Given the description of an element on the screen output the (x, y) to click on. 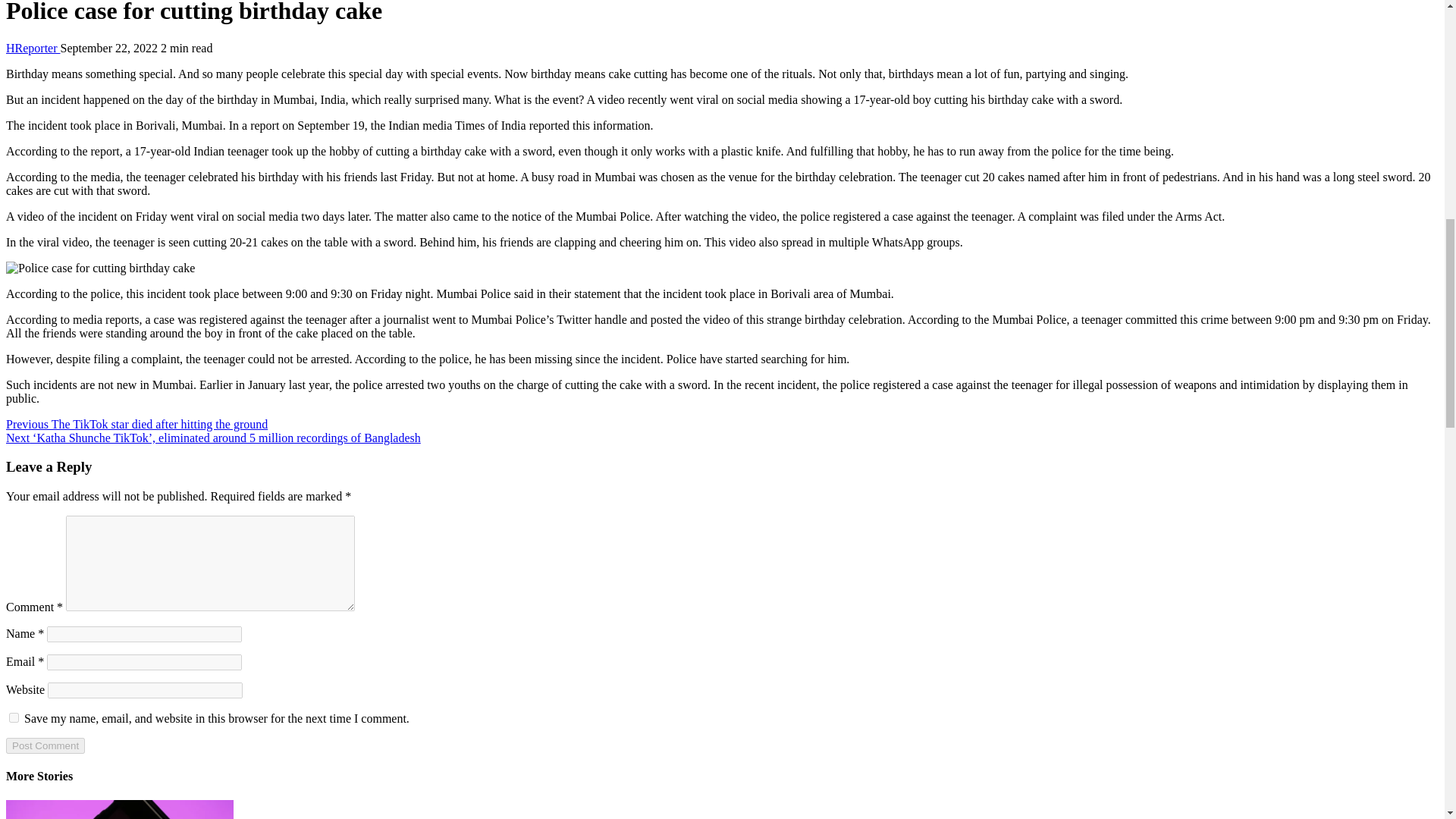
yes (13, 717)
Post Comment (44, 745)
